Given the description of an element on the screen output the (x, y) to click on. 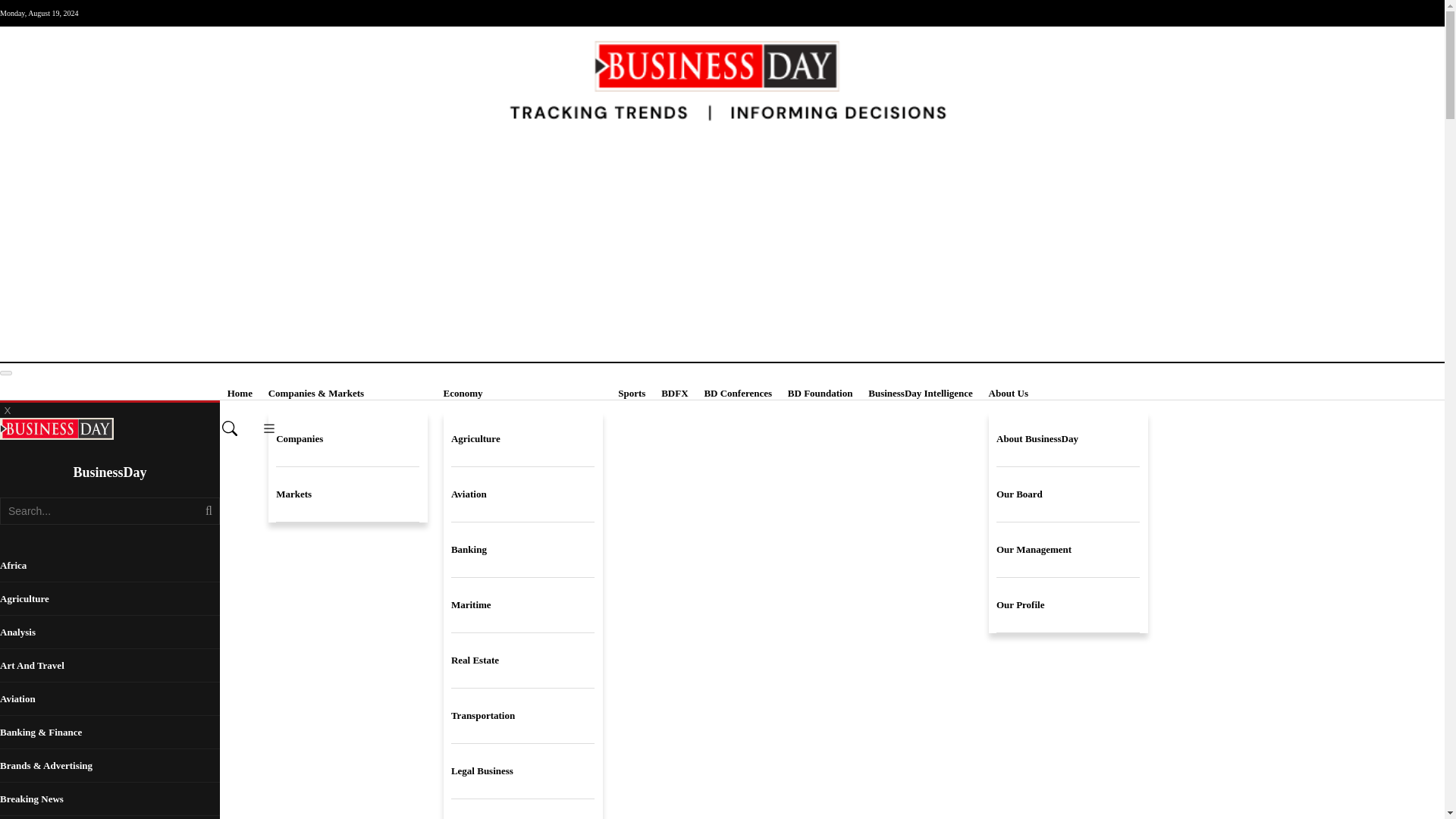
BD Conferences (737, 393)
Legal Business (522, 771)
About BusinessDay (1067, 438)
Banking (522, 550)
BD Foundation (820, 393)
Markets (347, 494)
Breaking News (109, 798)
Aviation (522, 494)
Real Estate (522, 660)
Banking (522, 550)
